Given the description of an element on the screen output the (x, y) to click on. 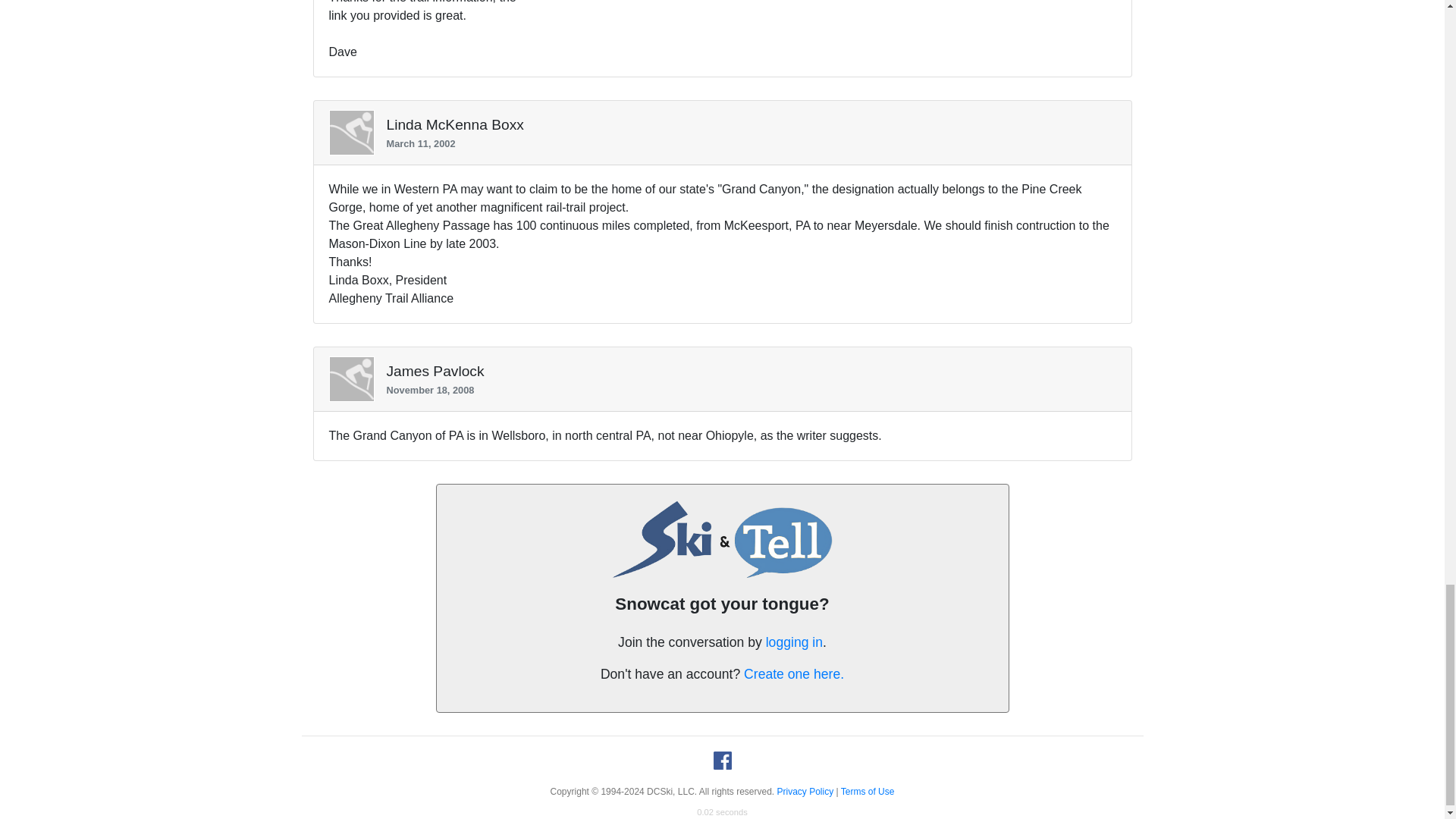
Terms of Use (868, 791)
Privacy Policy (805, 791)
November 18, 2008 at 11:20 am (745, 390)
Create one here. (794, 673)
logging in (793, 642)
March 11, 2002 at 08:00 am (745, 143)
